Given the description of an element on the screen output the (x, y) to click on. 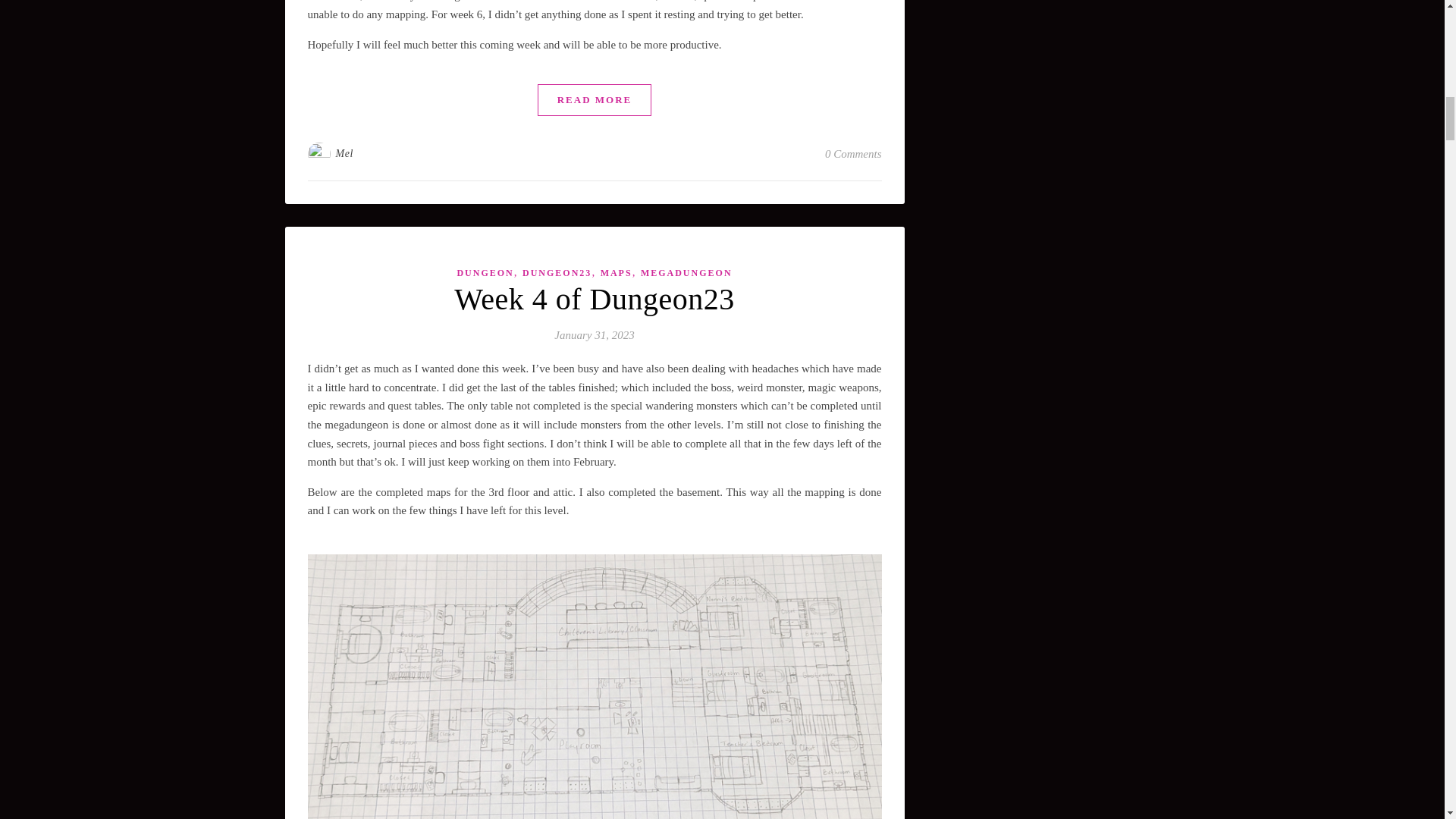
READ MORE (594, 100)
DUNGEON (485, 272)
MAPS (615, 272)
0 Comments (853, 153)
MEGADUNGEON (686, 272)
DUNGEON23 (556, 272)
